Given the description of an element on the screen output the (x, y) to click on. 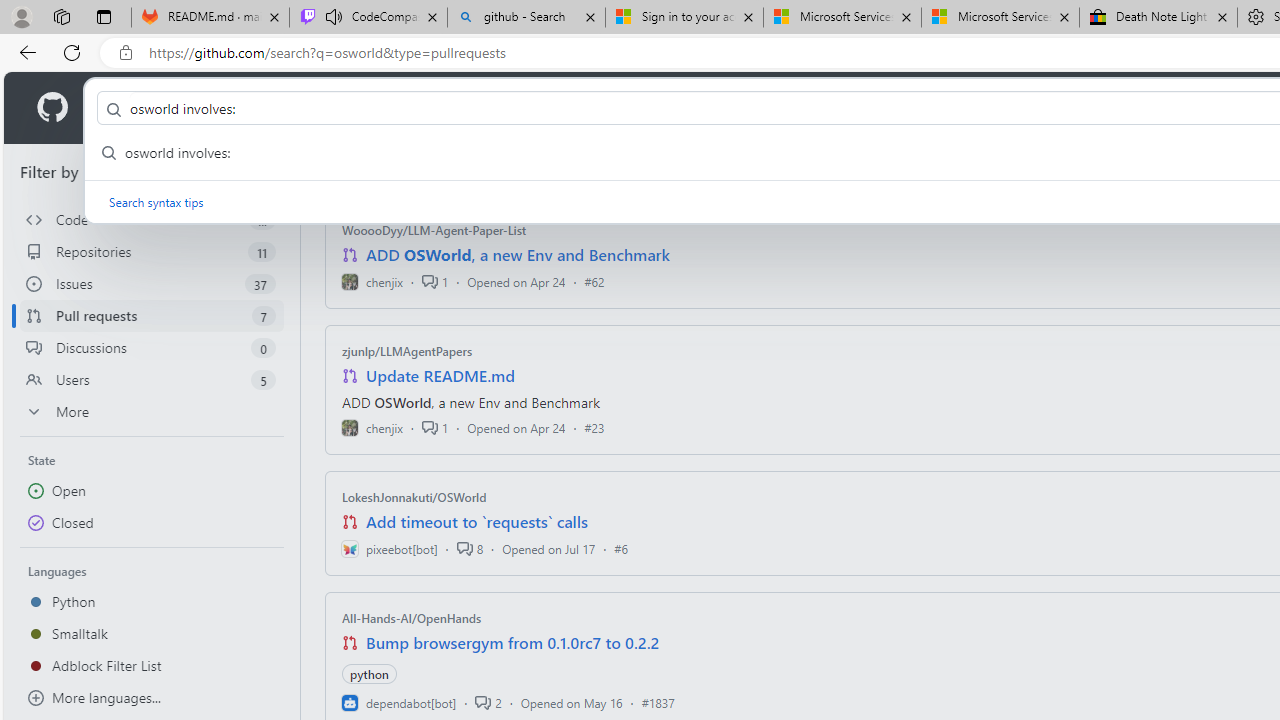
2 (487, 702)
Solutions (225, 107)
Bump browsergym from 0.1.0rc7 to 0.2.2 (513, 642)
Open Source (446, 107)
#23 (594, 427)
pixeebot[bot] (389, 548)
Add timeout to `requests` calls (476, 521)
